Given the description of an element on the screen output the (x, y) to click on. 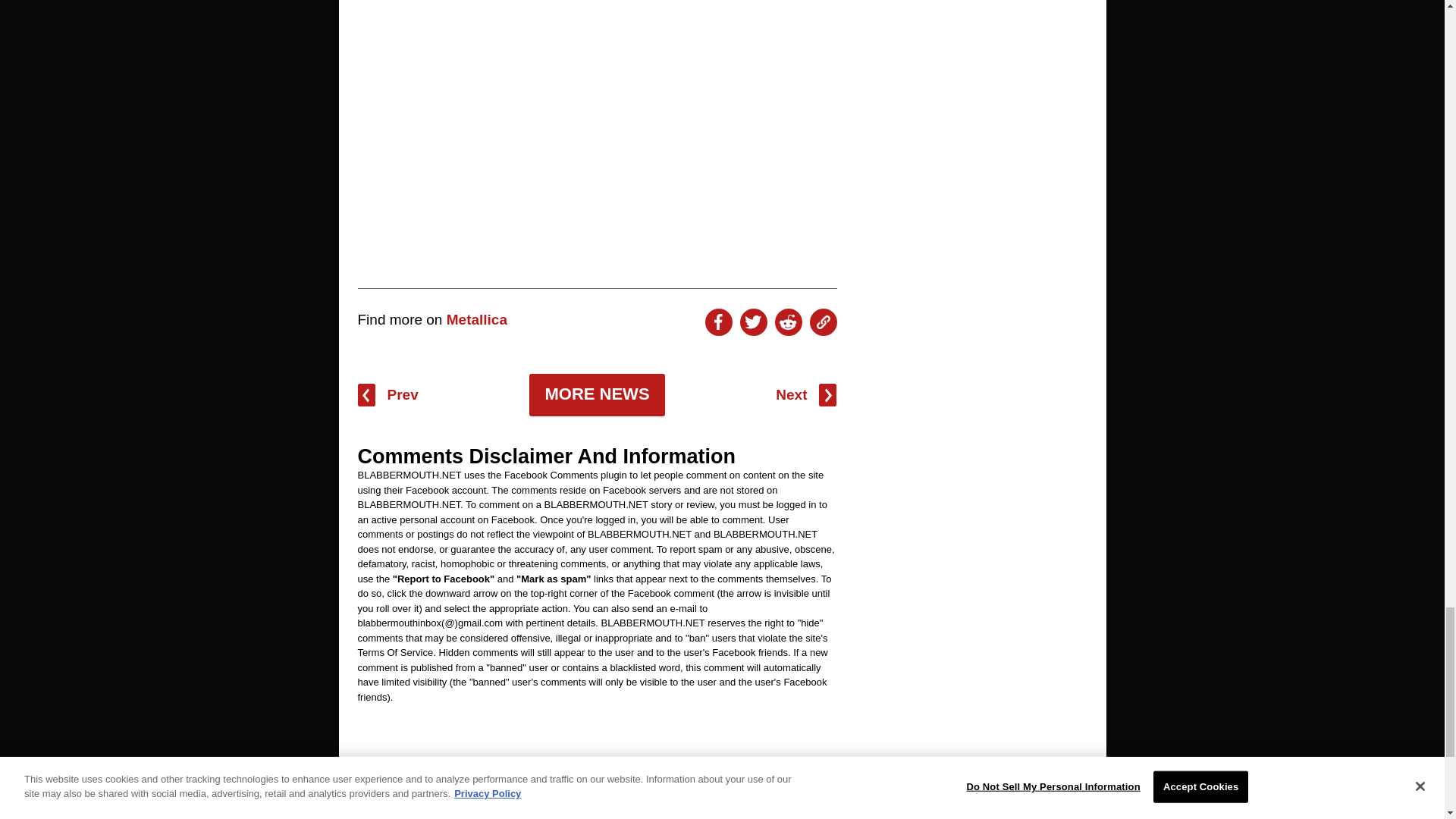
Prev (388, 395)
Share On Twitter (753, 321)
Copy To Clipboard (823, 321)
MORE NEWS (596, 394)
Share On Facebook (718, 321)
Share On Reddit (788, 321)
Metallica (476, 319)
Next (805, 395)
